Given the description of an element on the screen output the (x, y) to click on. 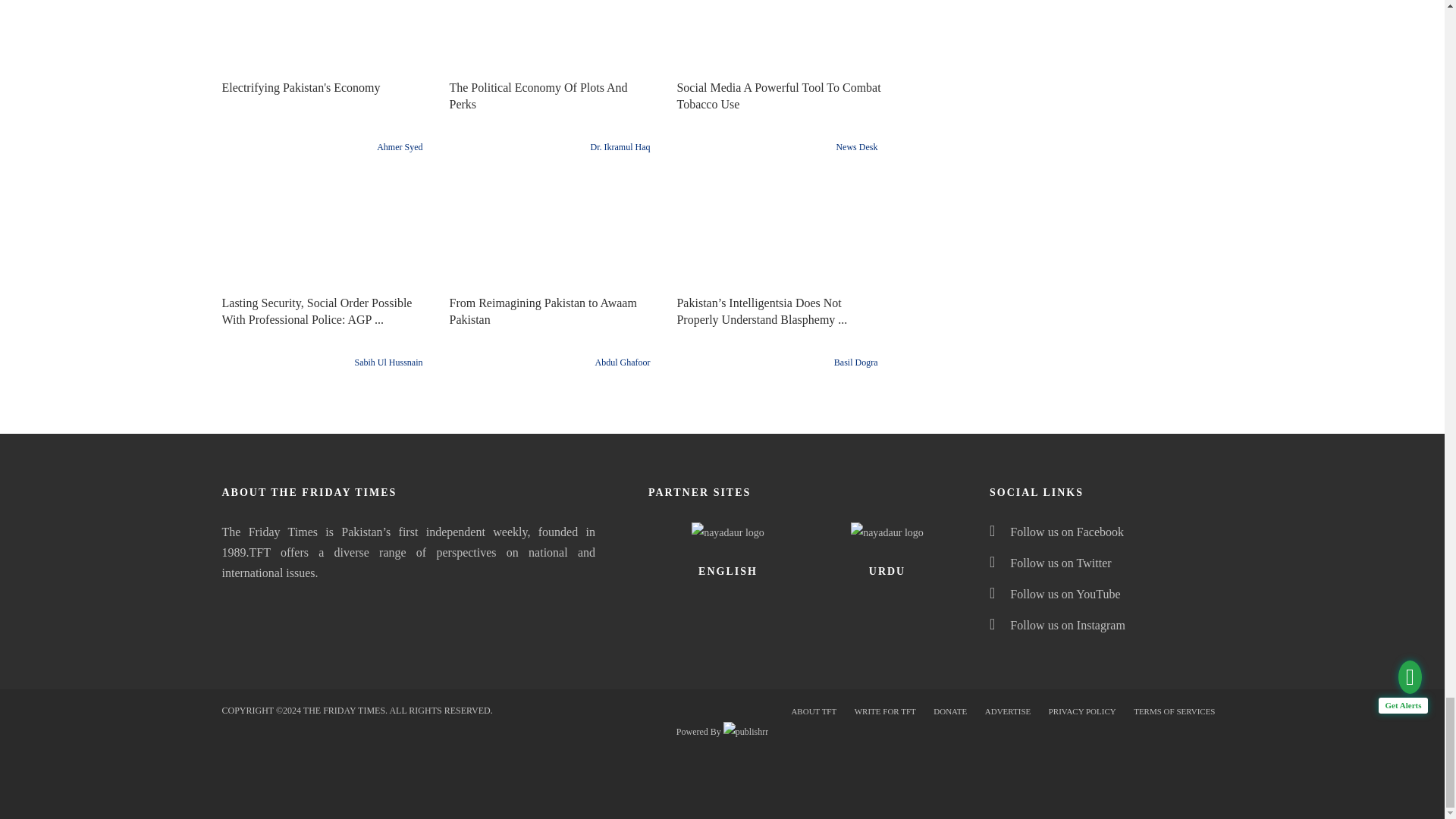
From Reimagining Pakistan to Awaam Pakistan (550, 232)
Social Media A Powerful Tool To Combat Tobacco Use (778, 39)
Electrifying Pakistan's Economy (323, 39)
The Political Economy Of Plots And Perks (550, 39)
